Given the description of an element on the screen output the (x, y) to click on. 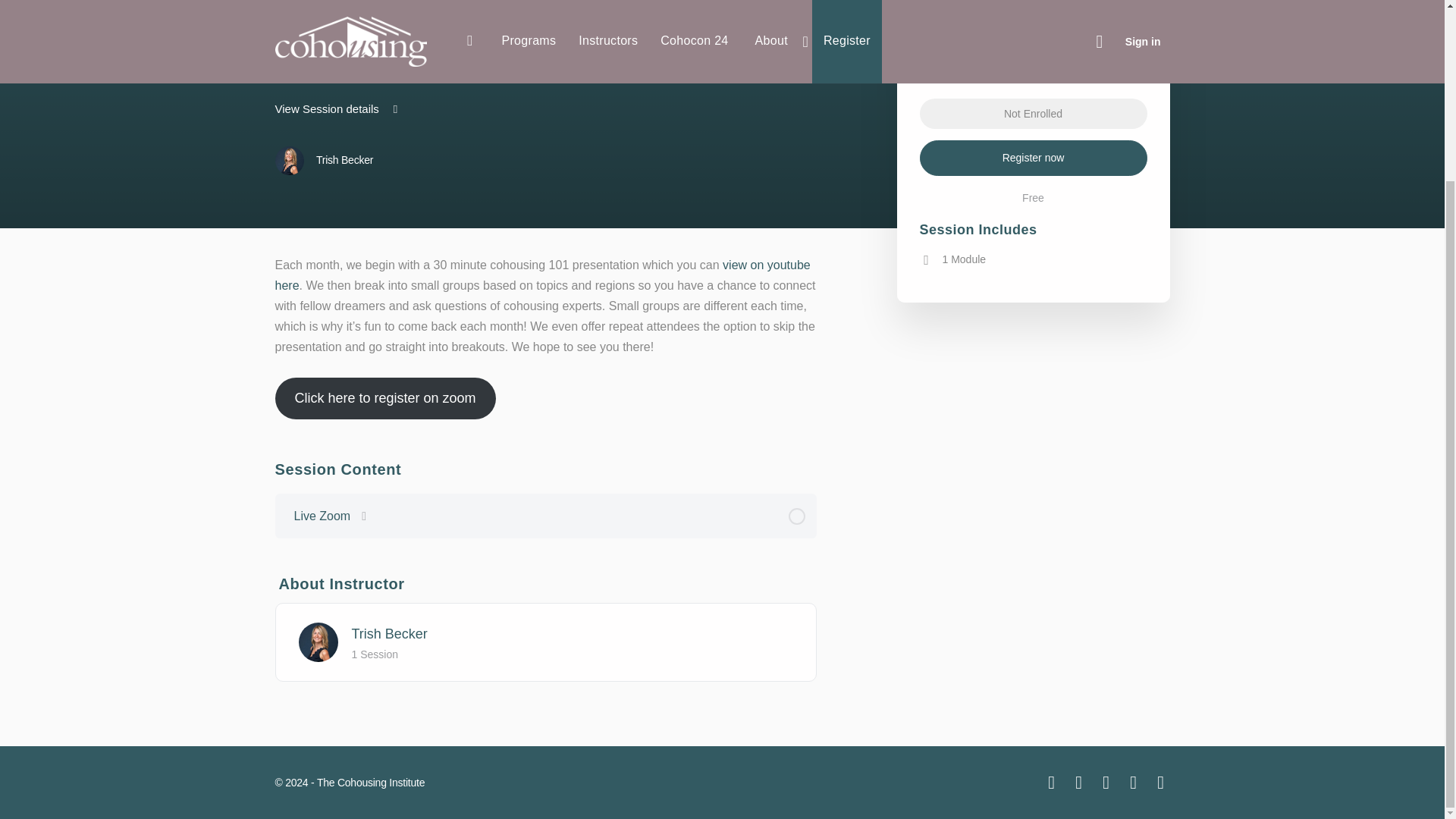
view on youtube here (542, 274)
Register now (1032, 158)
View Session details (337, 108)
Click here to register on zoom (385, 398)
Log In (722, 249)
Trish Becker (323, 160)
Trish Becker (390, 633)
Live Zoom (545, 516)
